Given the description of an element on the screen output the (x, y) to click on. 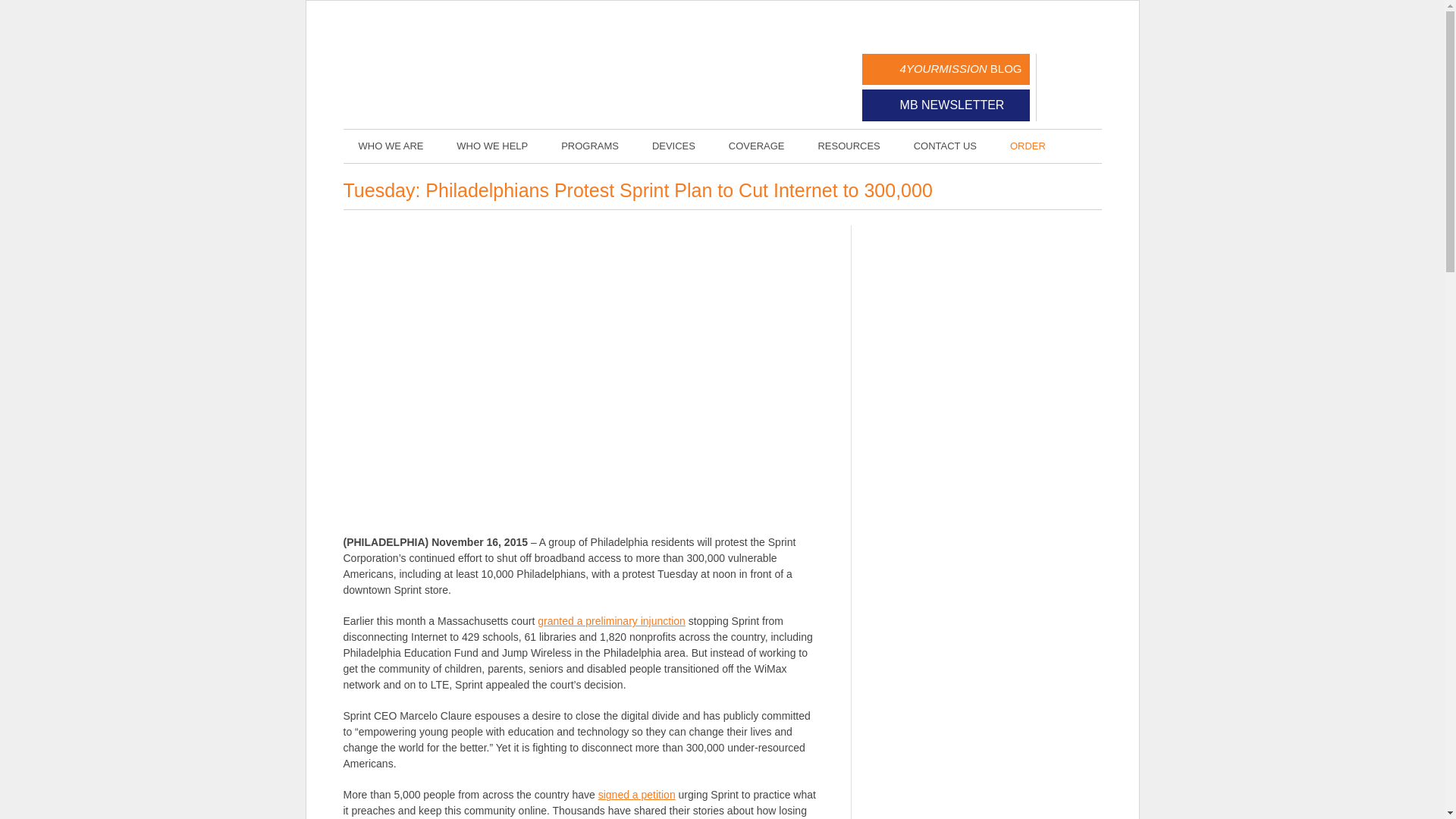
contactnav (944, 145)
MB NEWSLETTER (945, 105)
PROGRAMS (589, 145)
RESOURCES (848, 145)
Mobilebeacon (456, 66)
WHO WE HELP (492, 145)
4YOURMISSION BLOG (945, 69)
COVERAGE (756, 145)
DEVICES (673, 145)
WHO WE ARE (390, 145)
